Given the description of an element on the screen output the (x, y) to click on. 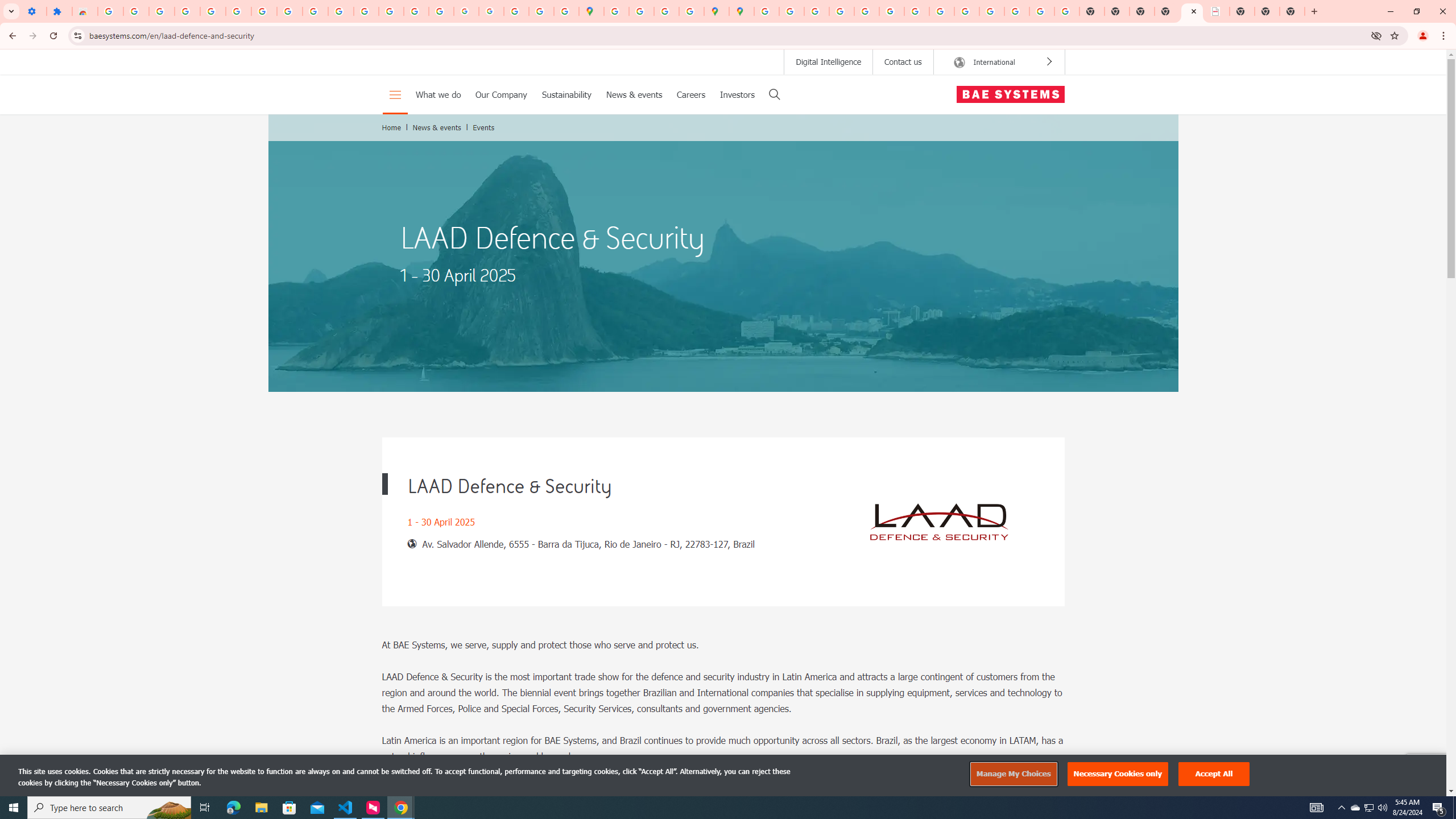
To get missing image descriptions, open the context menu. (939, 521)
YouTube (315, 11)
Sign in - Google Accounts (766, 11)
BAE Systems Brasil | BAE Systems (1216, 11)
News & events (436, 126)
Necessary Cookies only (1118, 774)
YouTube (916, 11)
